Given the description of an element on the screen output the (x, y) to click on. 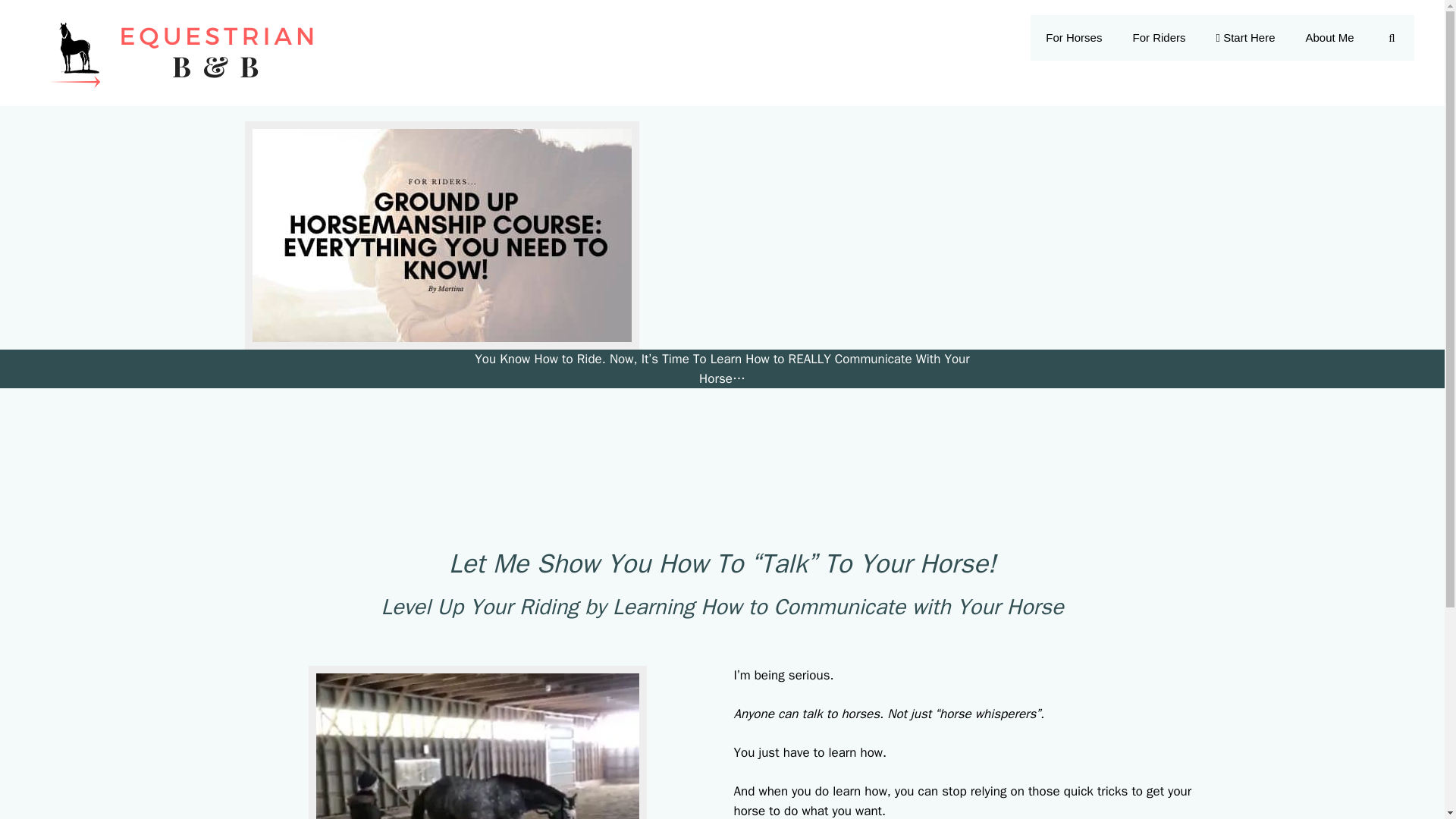
About Me (1330, 37)
For Riders (1157, 37)
For Horses (1073, 37)
